Given the description of an element on the screen output the (x, y) to click on. 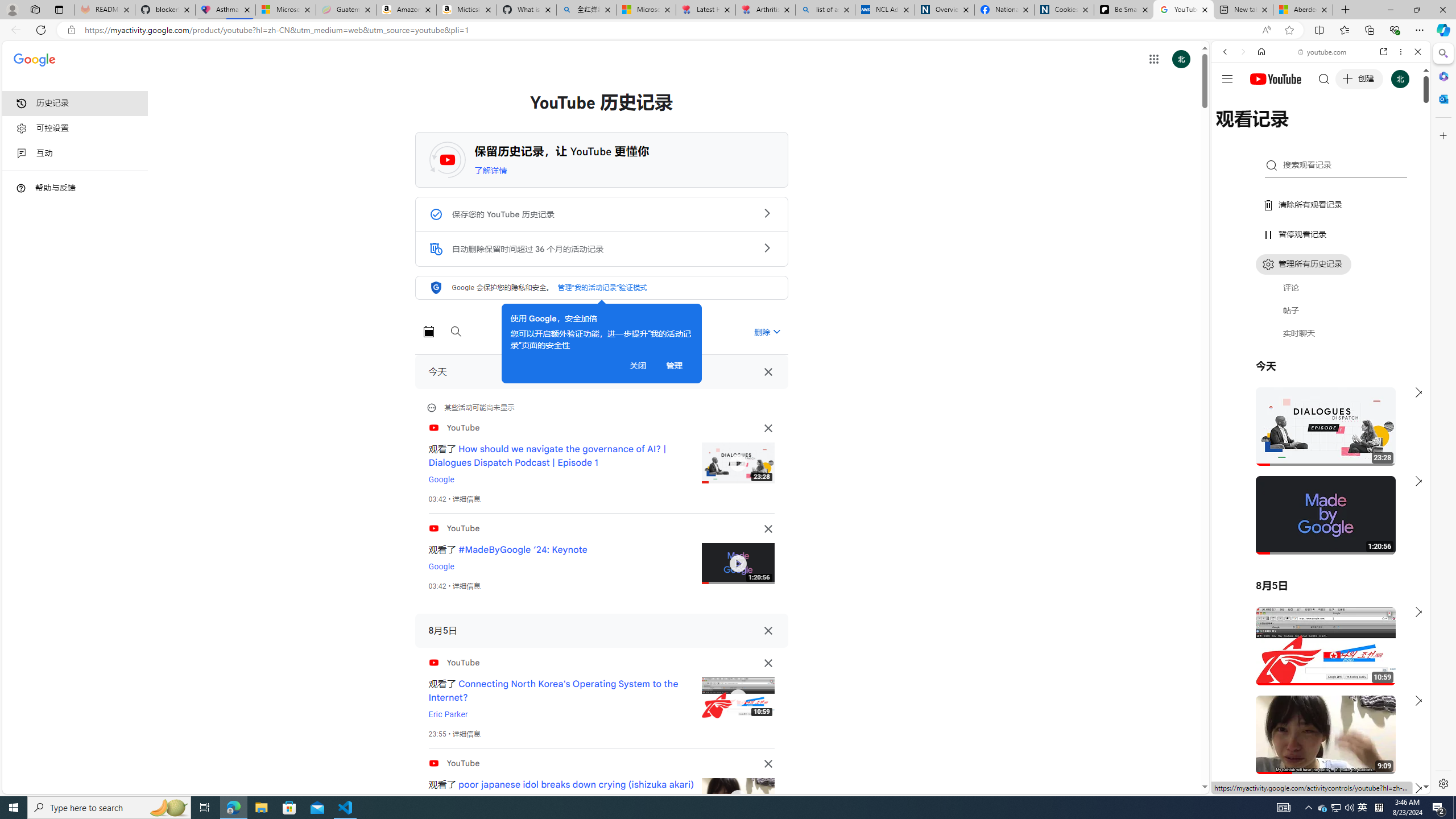
WEB   (1230, 130)
Class: DTiKkd NMm5M (21, 188)
Music (1320, 309)
Class: dict_pnIcon rms_img (1312, 784)
you (1315, 755)
